Given the description of an element on the screen output the (x, y) to click on. 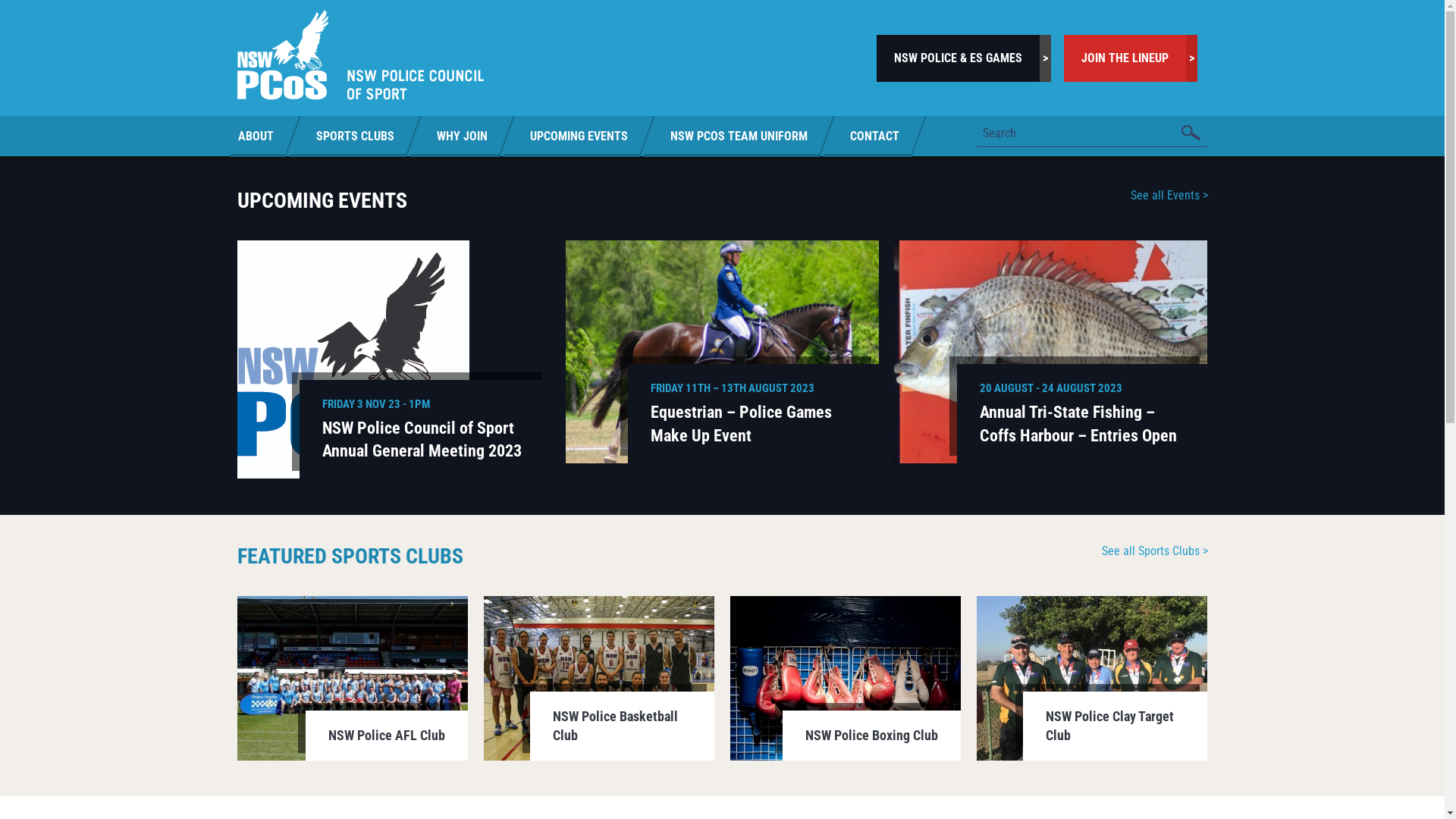
SPORTS CLUBS Element type: text (354, 134)
NSW Police Basketball Club Element type: text (599, 678)
See all Sports Clubs > Element type: text (1154, 550)
UPCOMING EVENTS Element type: text (578, 134)
NSW POLICE & ES GAMES
> Element type: text (963, 57)
ABOUT Element type: text (264, 134)
See all Events > Element type: text (1168, 195)
CONTACT Element type: text (873, 134)
NSW Police AFL Club Element type: text (351, 678)
NSW PCOS TEAM UNIFORM Element type: text (737, 134)
NSW Police Clay Target Club Element type: text (1092, 678)
NSW Police Boxing Club Element type: text (845, 678)
WHY JOIN Element type: text (461, 134)
NSW Police Council of Sport Element type: hover (359, 54)
JOIN THE LINEUP
> Element type: text (1130, 57)
